Given the description of an element on the screen output the (x, y) to click on. 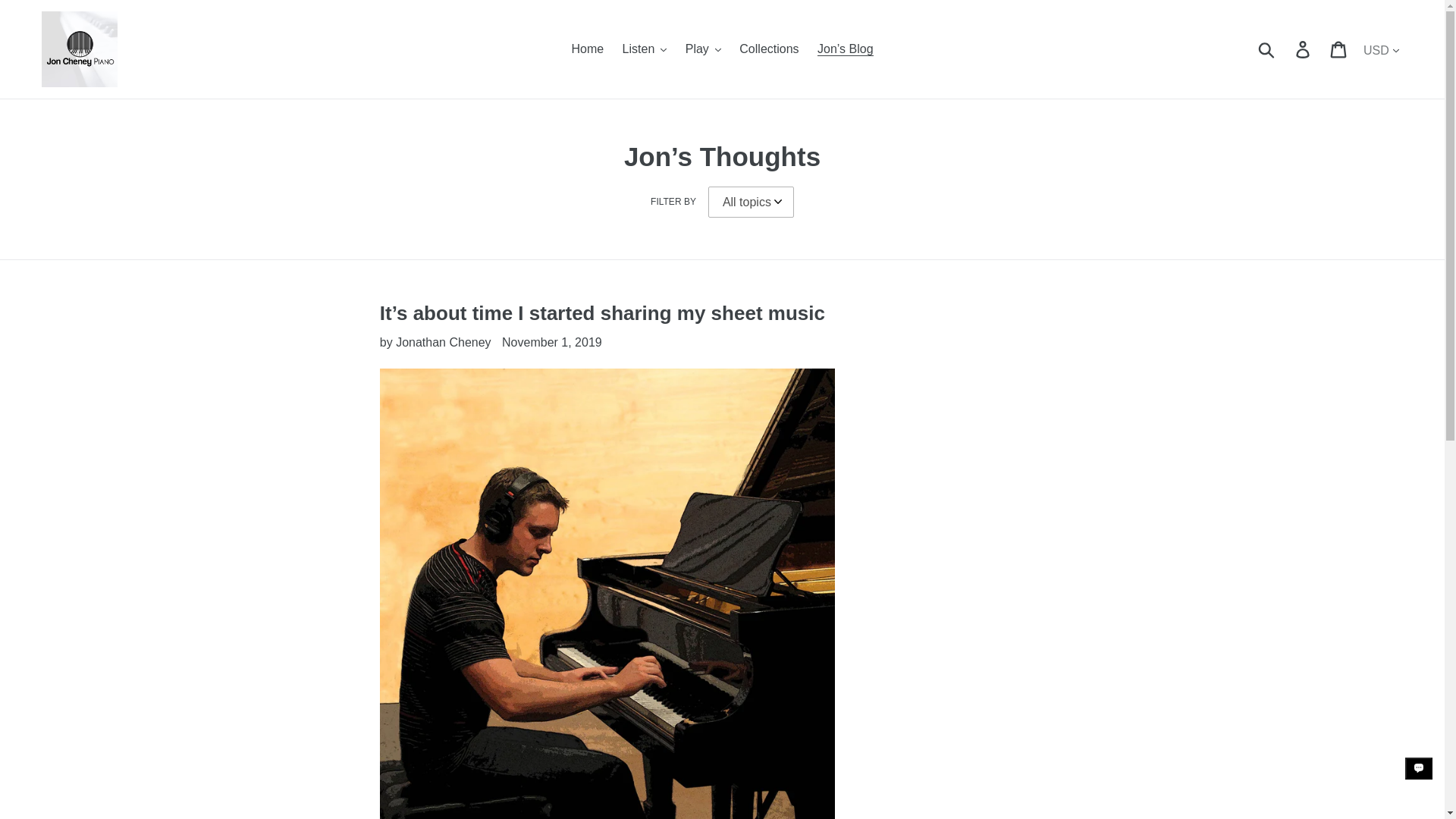
Home (587, 48)
Log in (1303, 49)
Cart (1339, 49)
Submit (1267, 49)
Collections (769, 48)
